Given the description of an element on the screen output the (x, y) to click on. 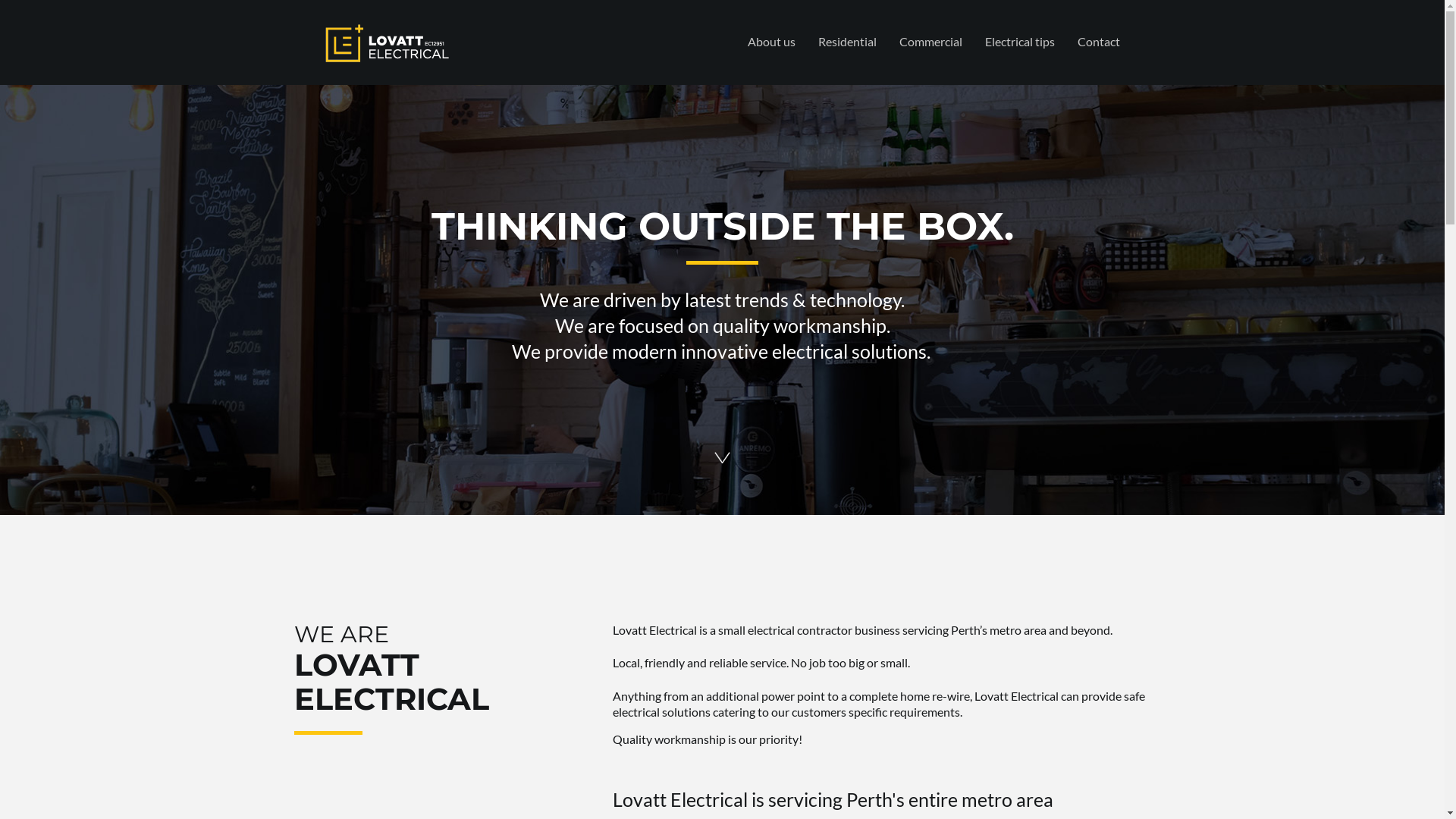
Contact Element type: text (1098, 41)
Commercial Element type: text (929, 41)
Lovatt-Electrical-Northbridge-Highgate-Leederville-arrowdown Element type: hover (721, 456)
Residential Element type: text (847, 41)
About us Element type: text (770, 41)
Electrical tips Element type: text (1019, 41)
